Given the description of an element on the screen output the (x, y) to click on. 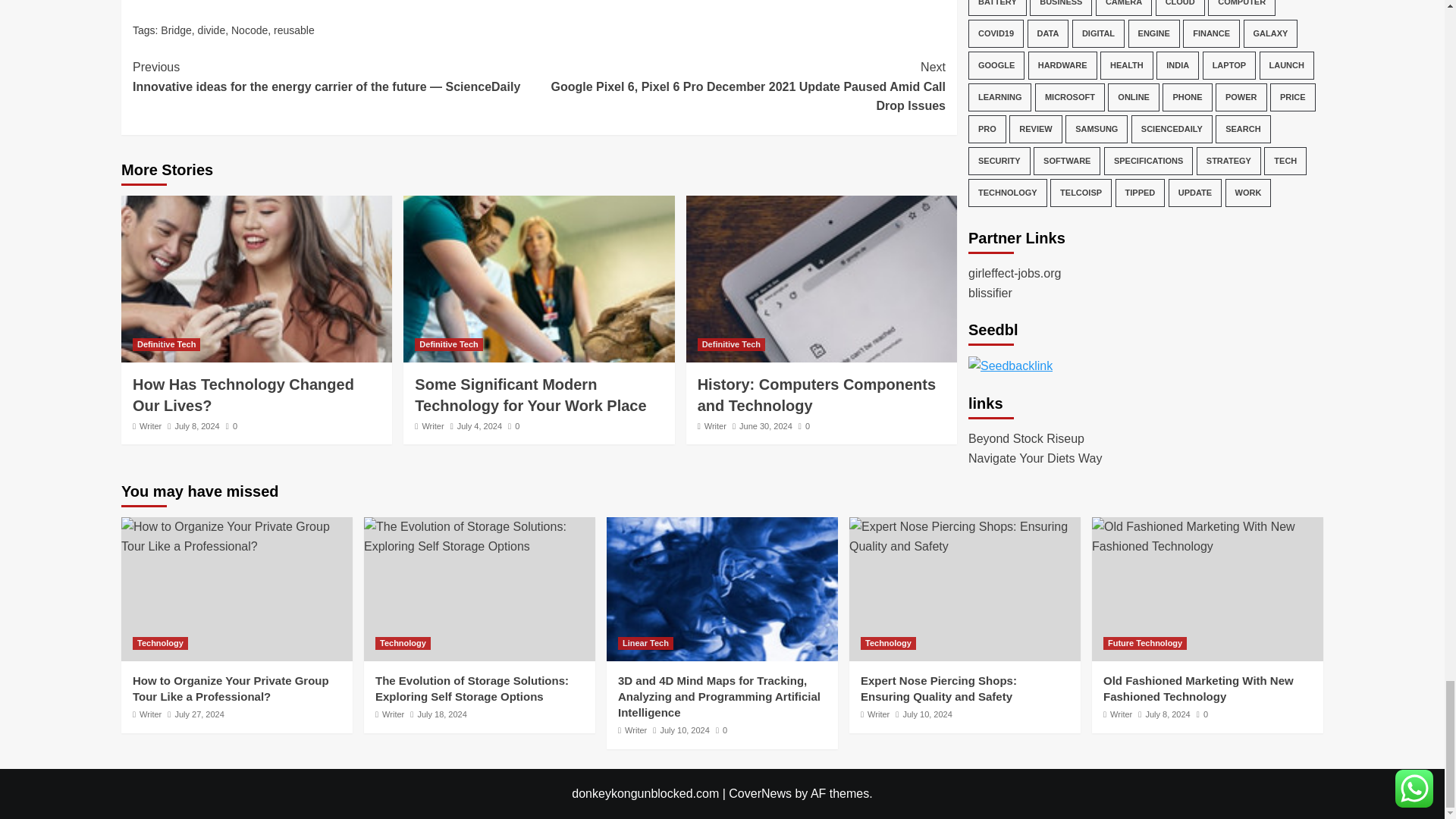
History: Computers Components and Technology (820, 278)
Some Significant Modern Technology for Your Work Place (538, 278)
Nocode (249, 30)
Definitive Tech (166, 344)
Bridge (175, 30)
How Has Technology Changed Our Lives? (255, 278)
reusable (293, 30)
divide (211, 30)
How Has Technology Changed Our Lives? (242, 394)
